Given the description of an element on the screen output the (x, y) to click on. 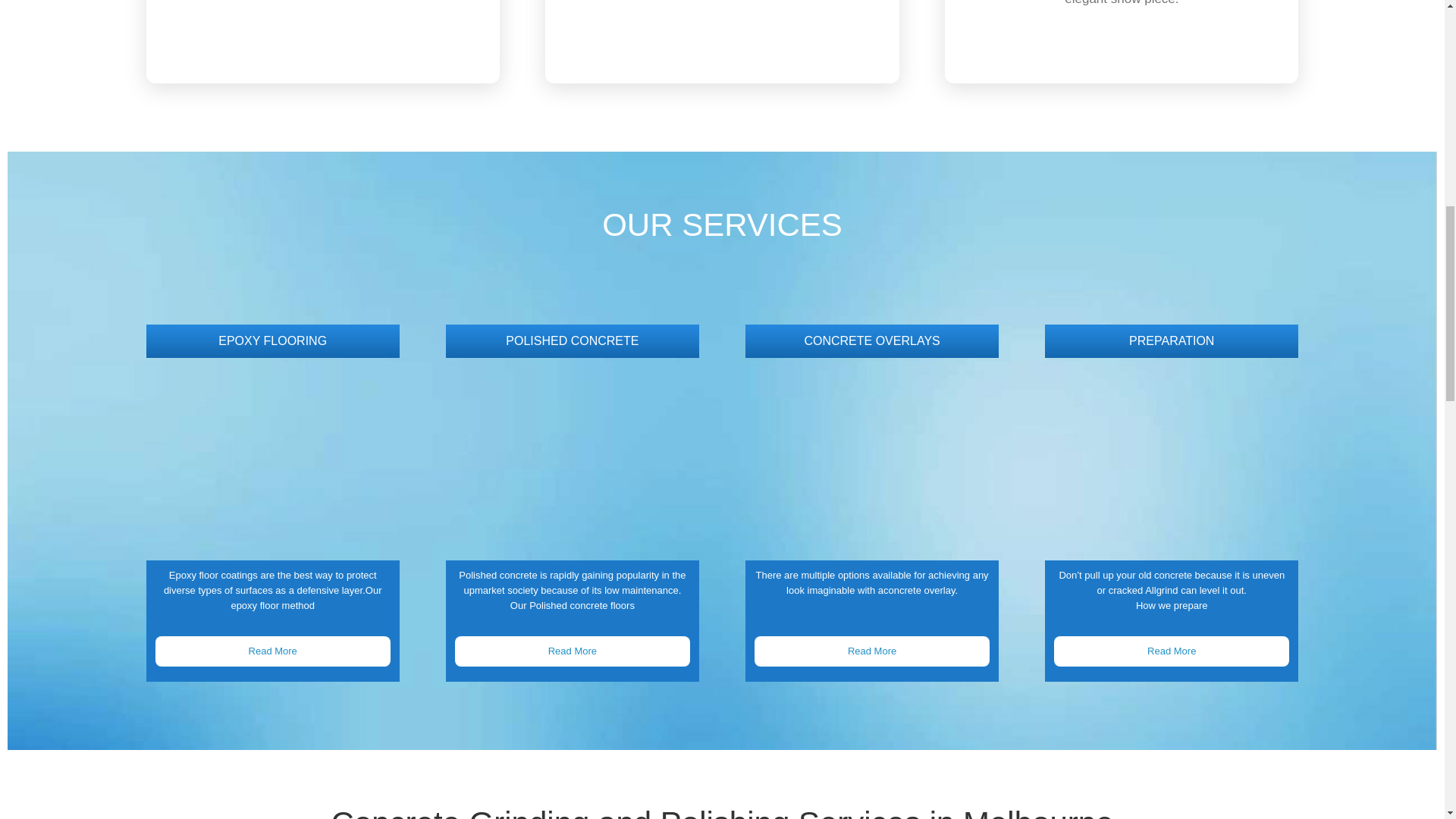
Read More (572, 651)
Read More (272, 651)
